Given the description of an element on the screen output the (x, y) to click on. 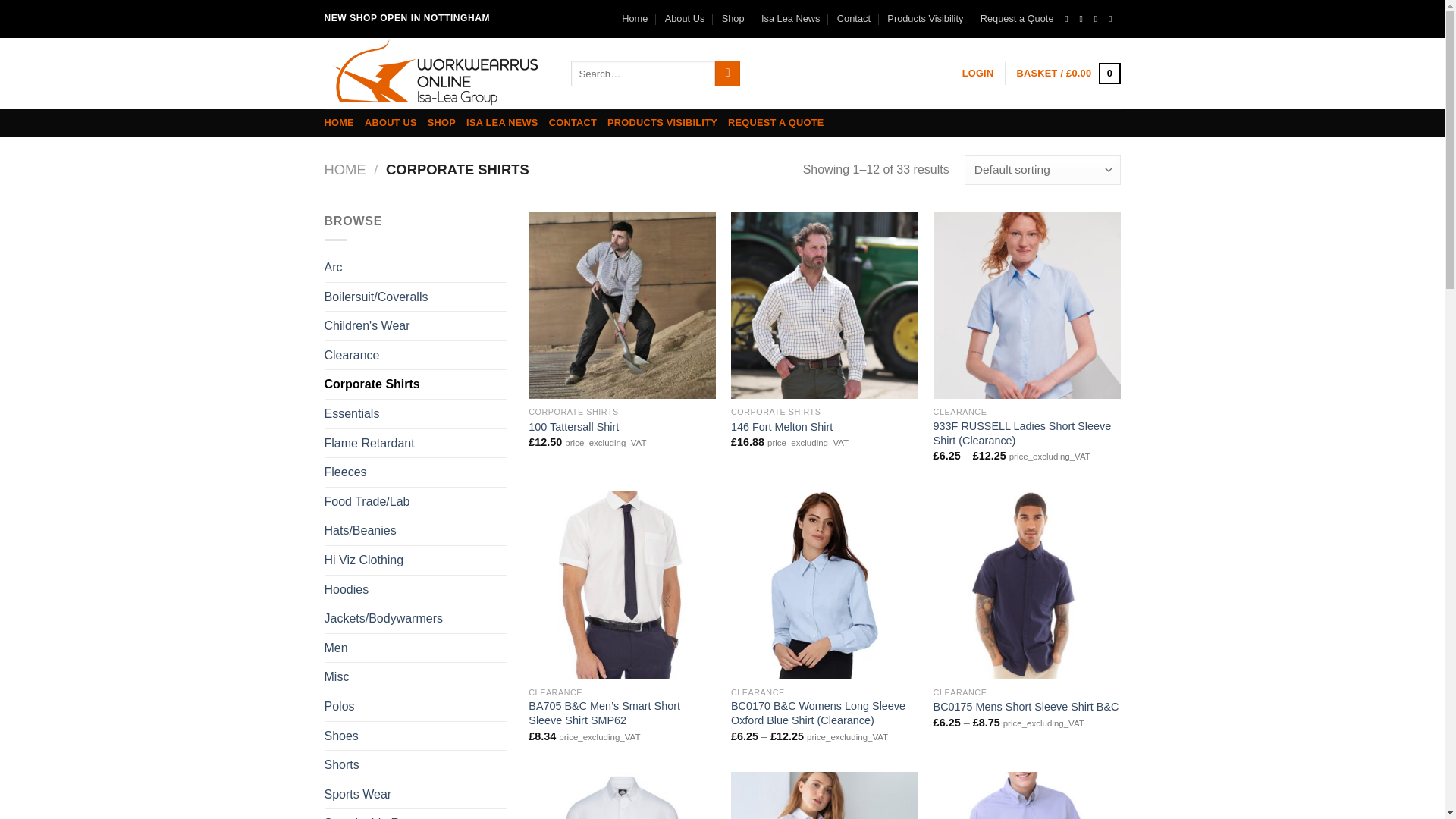
Essentials (415, 413)
Corporate Shirts (415, 384)
HOME (338, 122)
Login (978, 73)
About Us (684, 18)
ISA LEA NEWS (501, 122)
Products Visibility (924, 18)
Clearance (415, 355)
HOME (345, 169)
PRODUCTS VISIBILITY (662, 122)
